Given the description of an element on the screen output the (x, y) to click on. 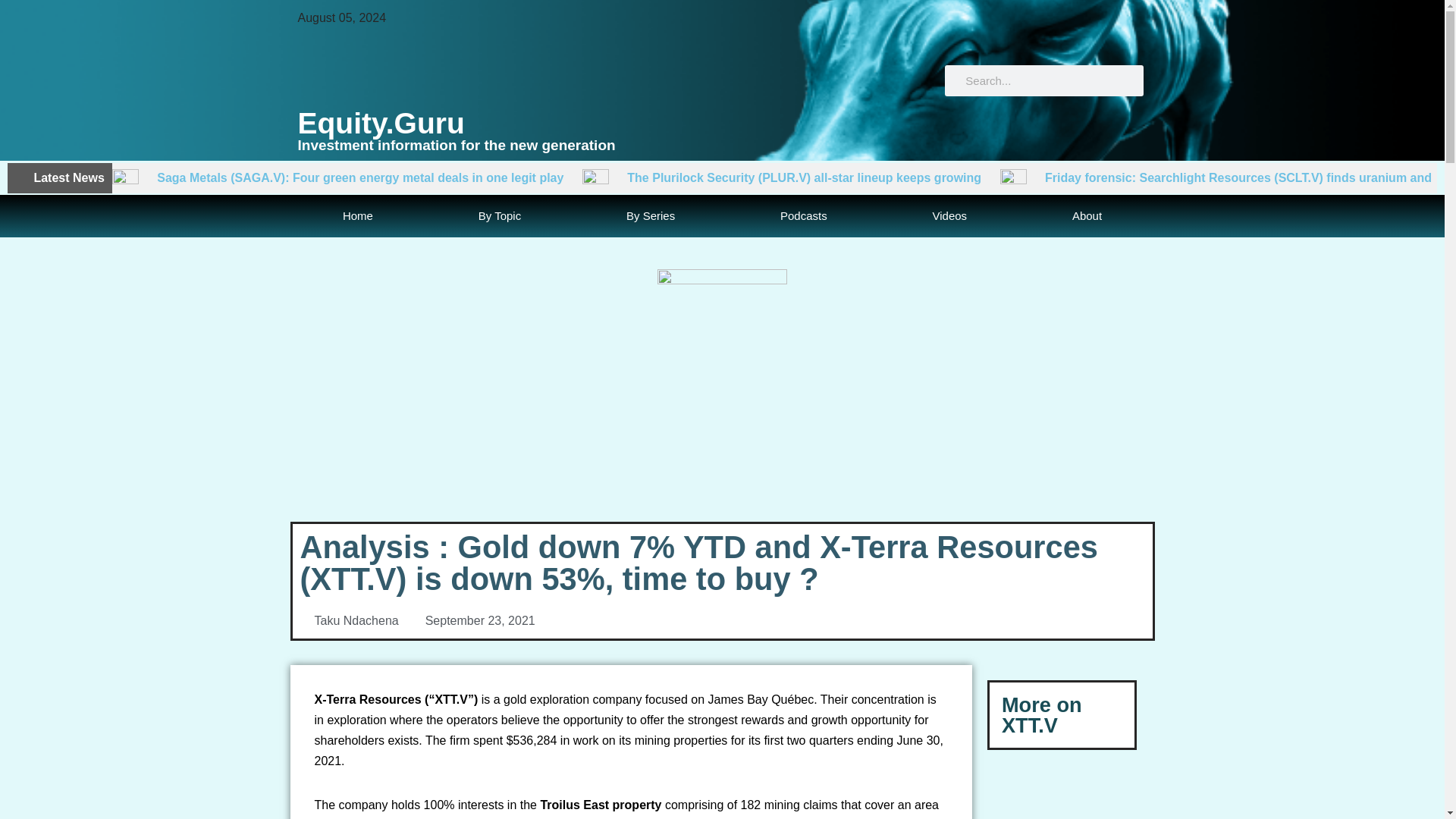
Podcasts (804, 215)
Home (357, 215)
Videos (949, 215)
By Topic (499, 215)
Equity.Guru (380, 123)
By Series (650, 215)
